Given the description of an element on the screen output the (x, y) to click on. 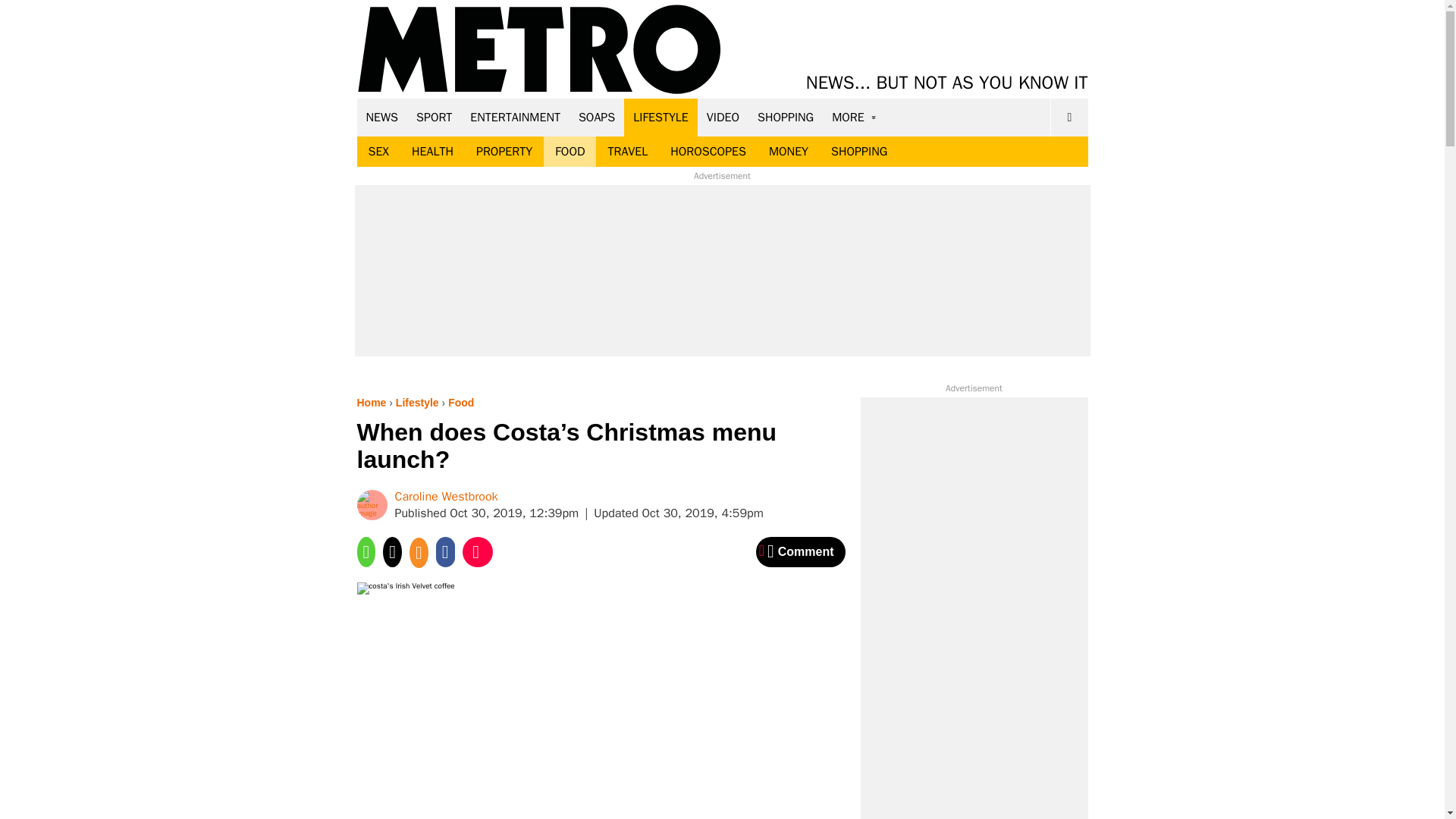
FOOD (569, 151)
NEWS (381, 117)
SEX (377, 151)
SOAPS (596, 117)
SPORT (434, 117)
ENTERTAINMENT (515, 117)
HEALTH (432, 151)
Metro (539, 50)
LIFESTYLE (660, 117)
PROPERTY (503, 151)
